Given the description of an element on the screen output the (x, y) to click on. 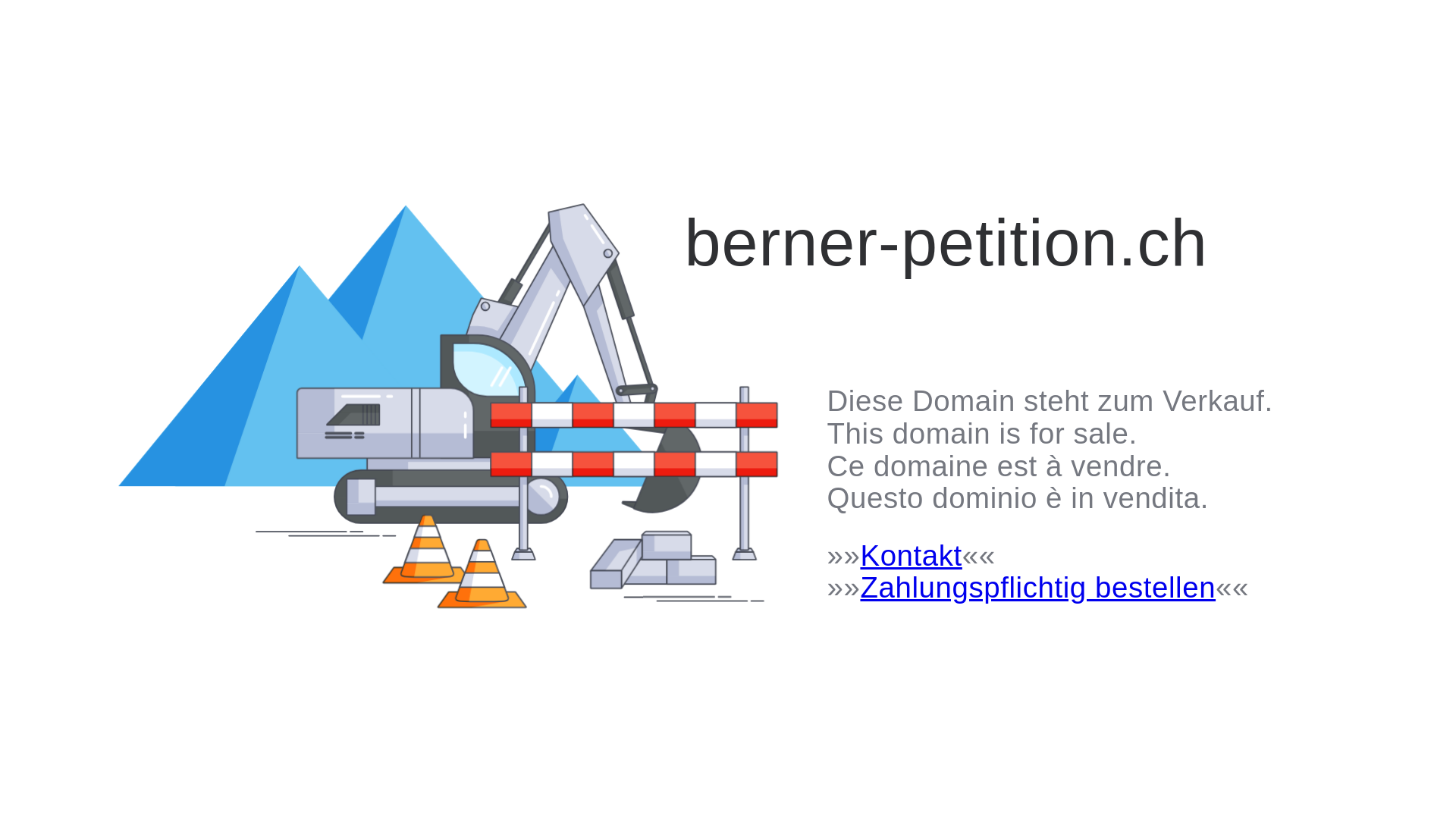
Zahlungspflichtig bestellen Element type: text (1037, 587)
Kontakt Element type: text (910, 554)
